Given the description of an element on the screen output the (x, y) to click on. 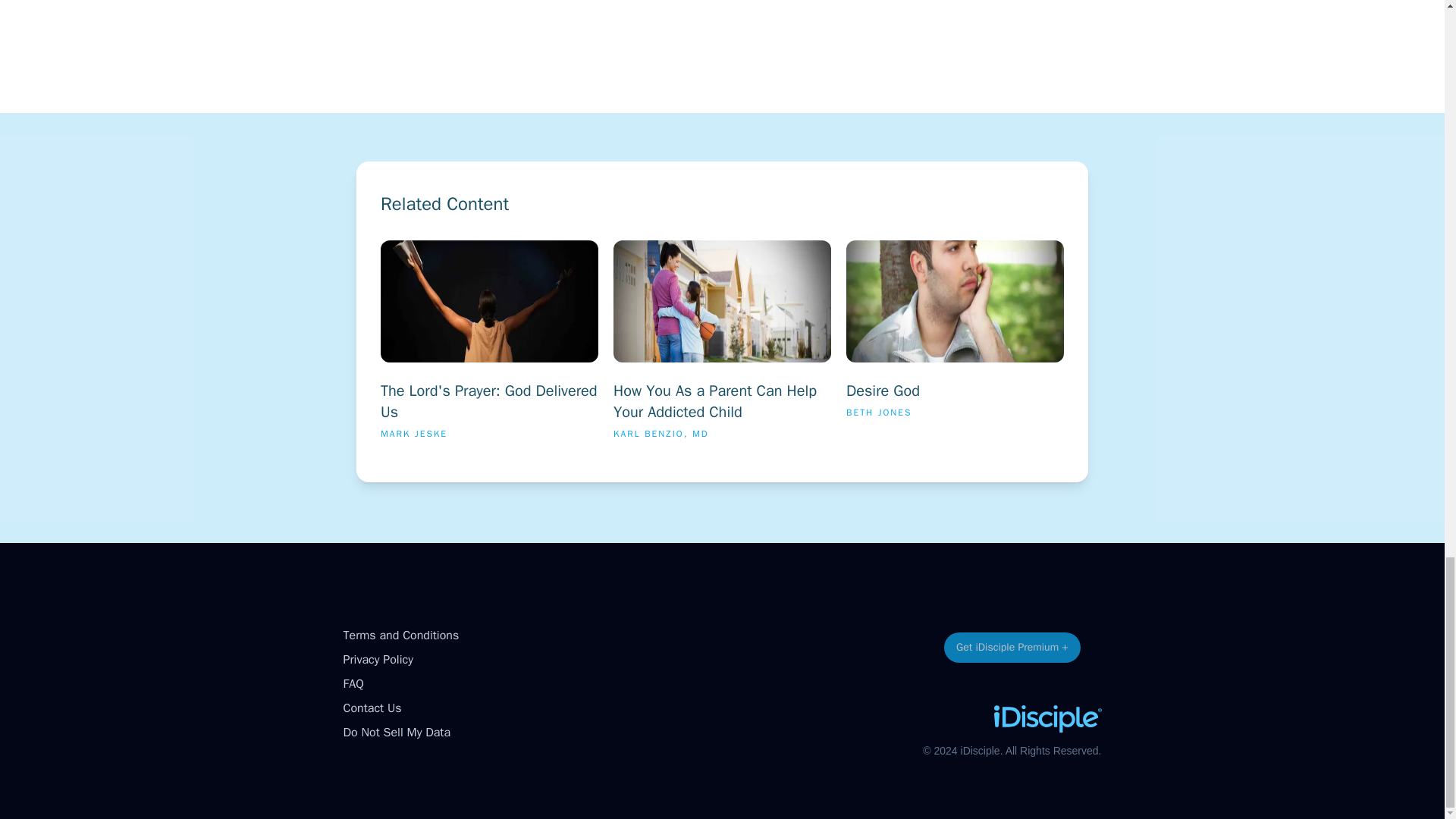
Terms and Conditions (400, 635)
Privacy Policy (377, 659)
Contact Us (371, 708)
Do Not Sell My Data (489, 346)
FAQ (395, 732)
